Given the description of an element on the screen output the (x, y) to click on. 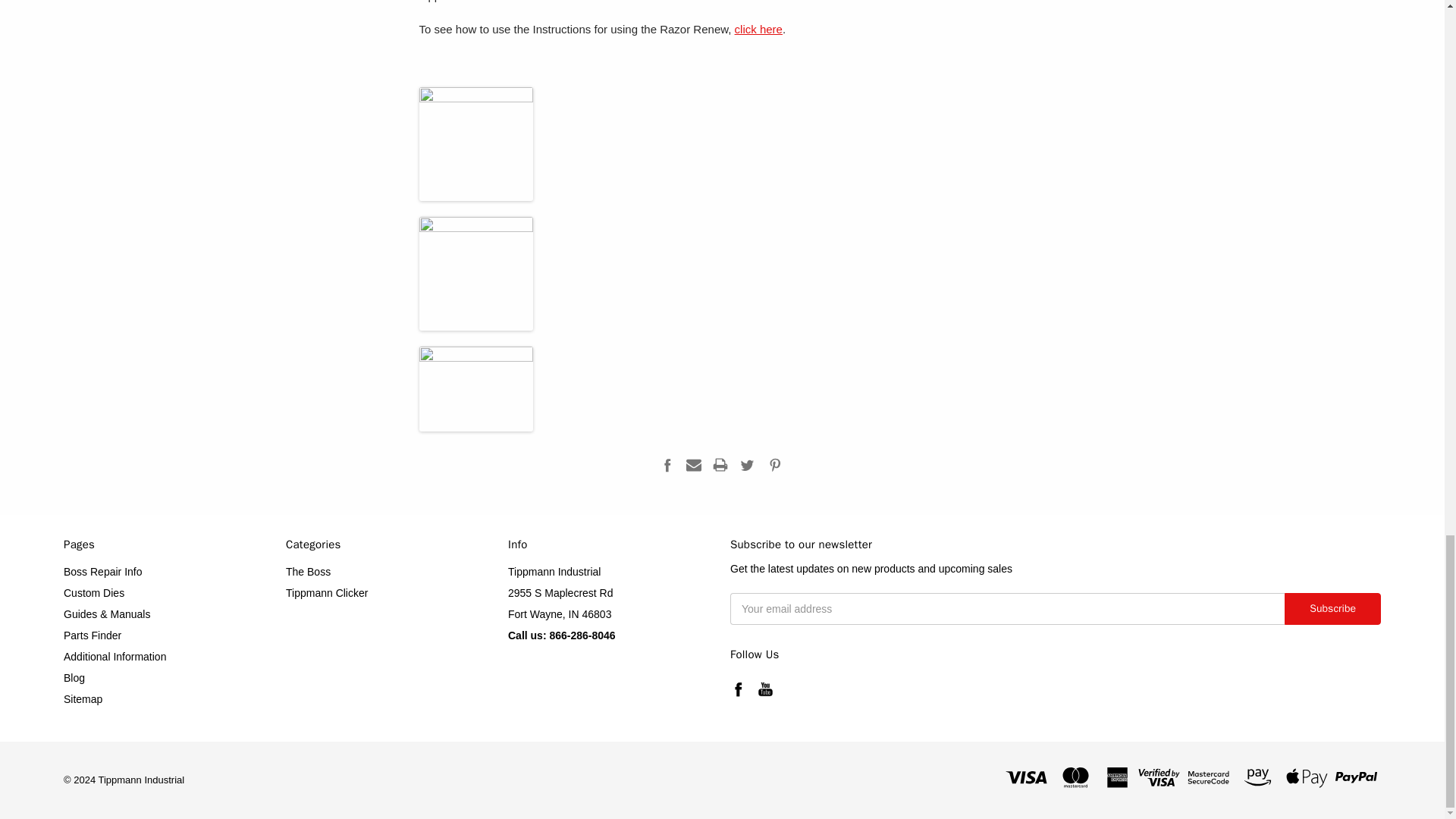
Pinterest (775, 464)
Email (693, 464)
Facebook (667, 464)
Print (720, 464)
Subscribe (1332, 608)
Twitter (746, 464)
